Given the description of an element on the screen output the (x, y) to click on. 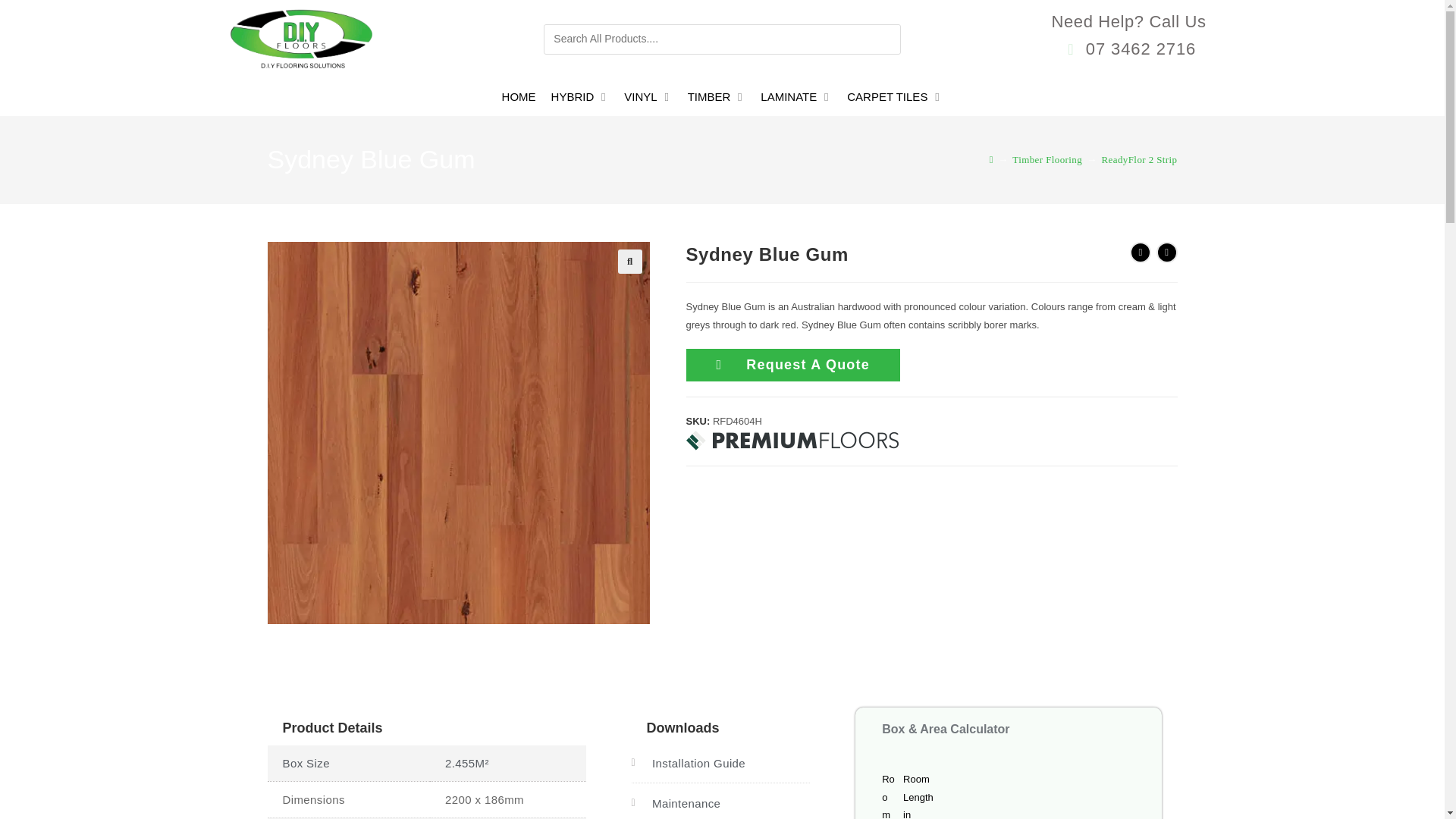
Premium Floors (791, 440)
07 3462 2716 (1128, 49)
HOME (518, 97)
